Given the description of an element on the screen output the (x, y) to click on. 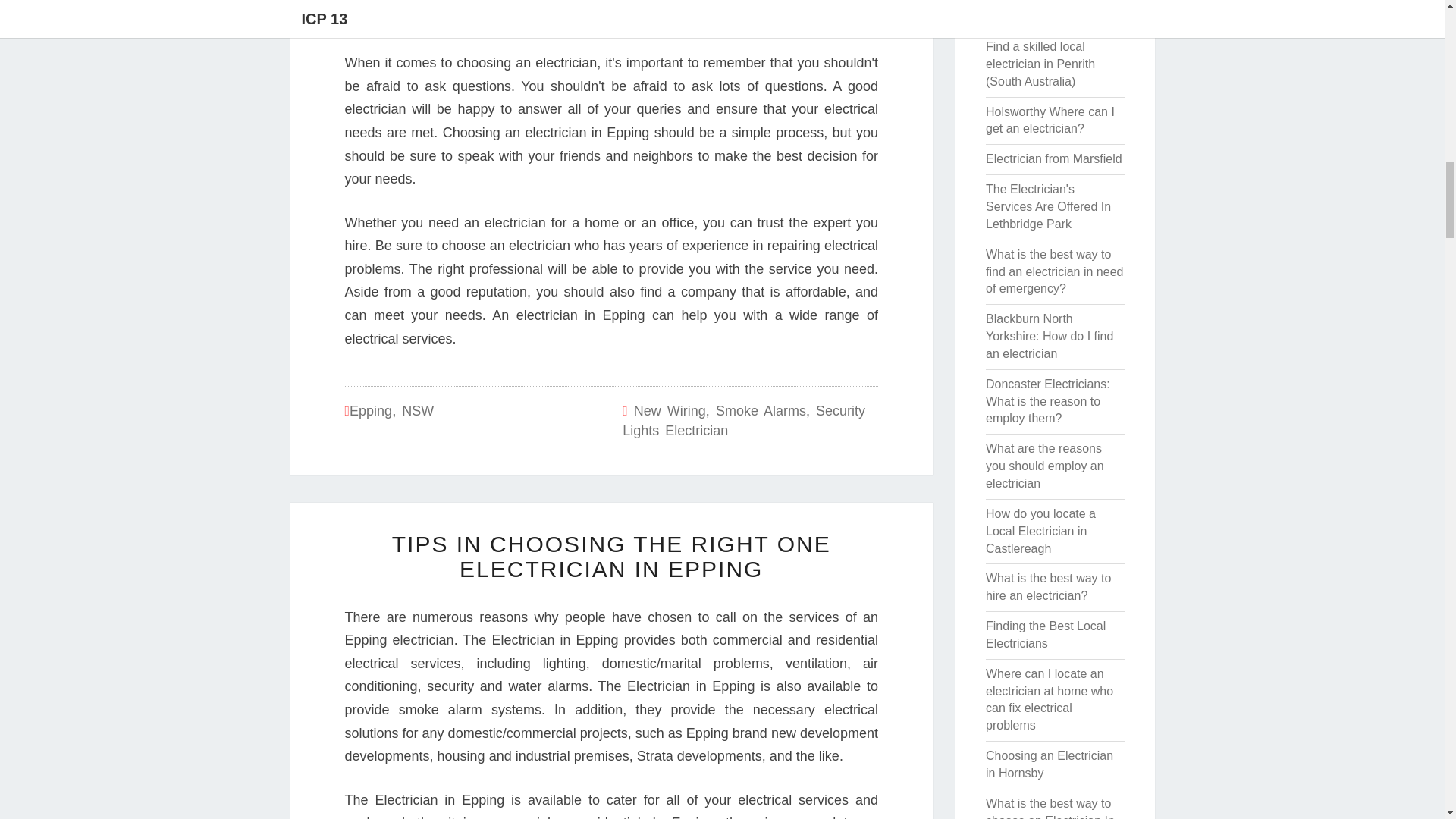
Epping (370, 410)
Electrician from Marsfield (1053, 158)
Holsworthy Where can I get an electrician? (1050, 120)
TIPS IN CHOOSING THE RIGHT ONE ELECTRICIAN IN EPPING (611, 556)
NSW (417, 410)
Smoke Alarms (761, 410)
New Wiring (669, 410)
Security Lights Electrician (743, 420)
Blackburn North Yorkshire: How do I find an electrician (1049, 336)
